Given the description of an element on the screen output the (x, y) to click on. 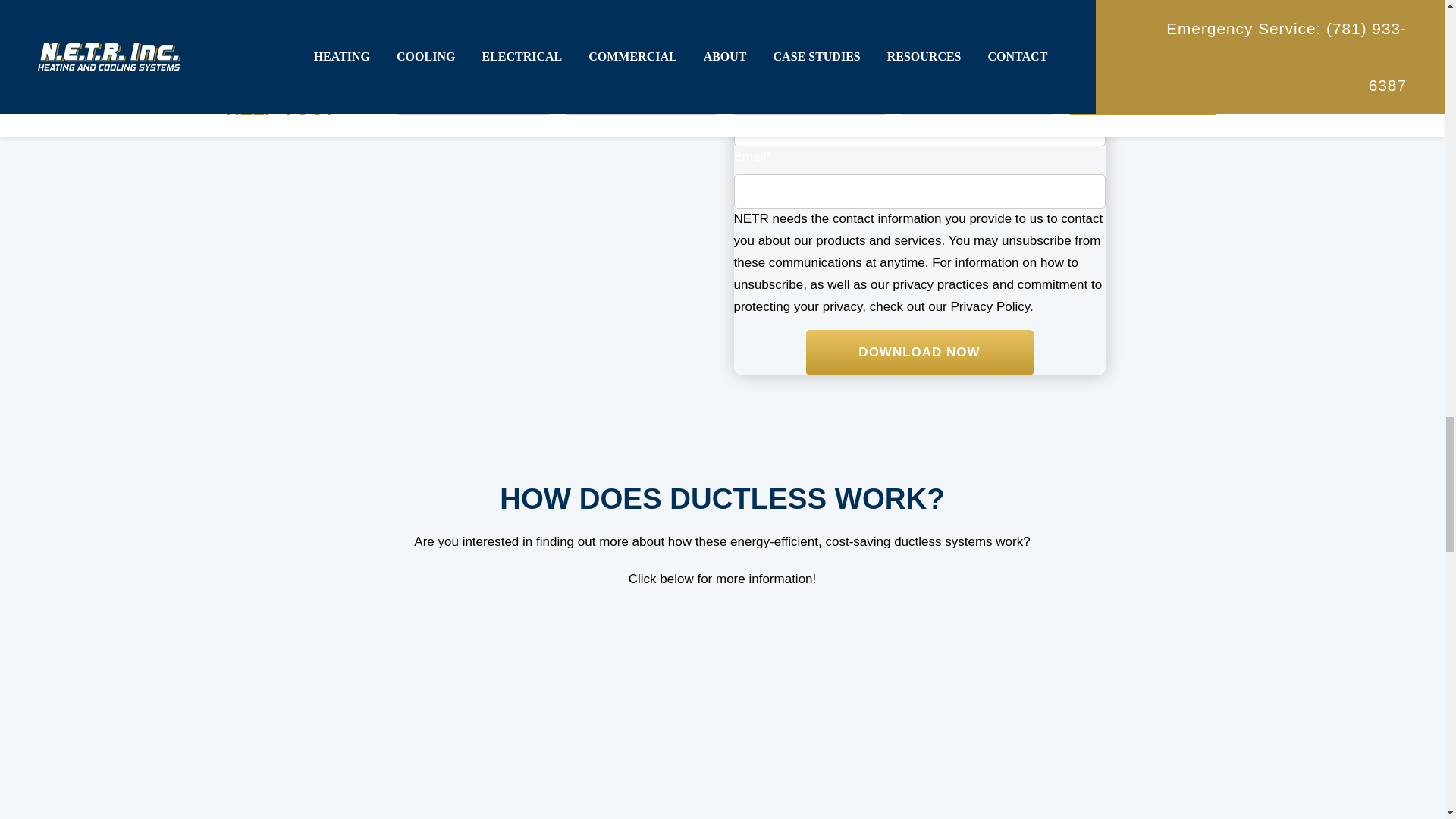
DOWNLOAD NOW (918, 352)
